Given the description of an element on the screen output the (x, y) to click on. 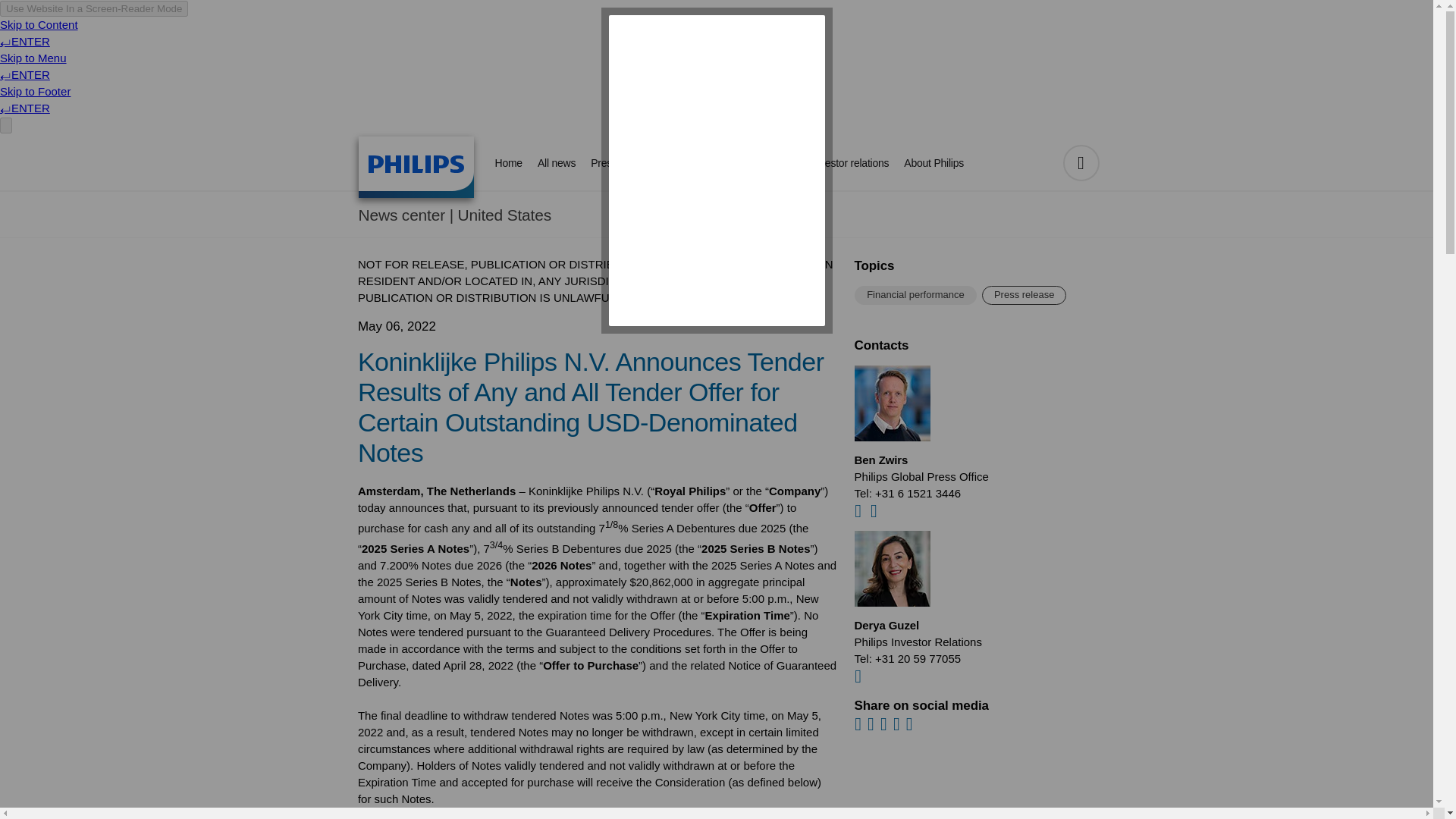
All news (556, 163)
Future Health Index (750, 163)
Perspectives (661, 163)
About Philips (933, 163)
Home (415, 167)
Investor relations (849, 163)
